Given the description of an element on the screen output the (x, y) to click on. 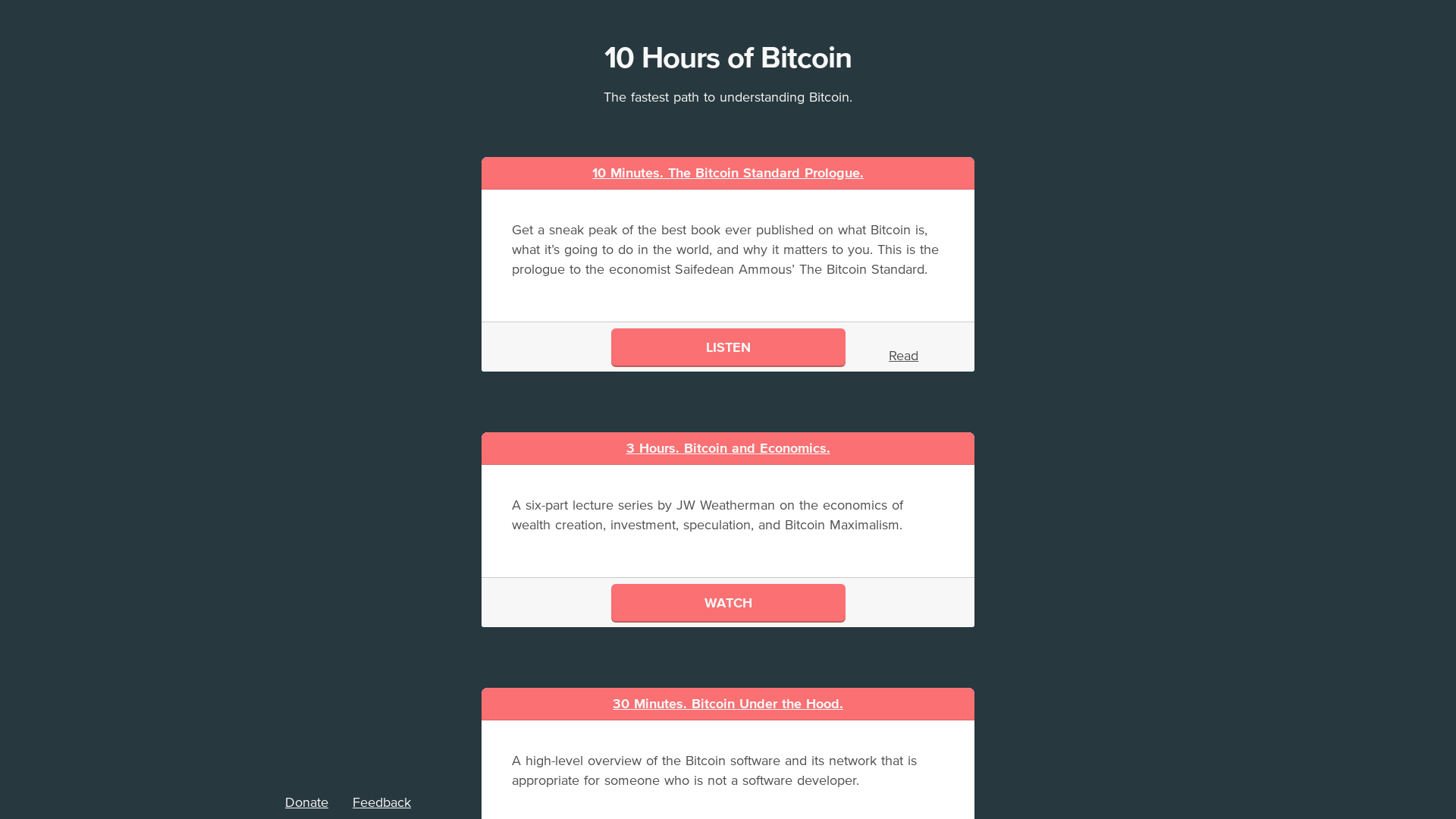
WATCH Element type: text (728, 602)
Read Element type: text (903, 355)
30 Minutes. Bitcoin Under the Hood. Element type: text (727, 703)
3 Hours. Bitcoin and Economics. Element type: text (728, 447)
LISTEN Element type: text (728, 346)
10 Minutes. The Bitcoin Standard Prologue. Element type: text (727, 172)
